Given the description of an element on the screen output the (x, y) to click on. 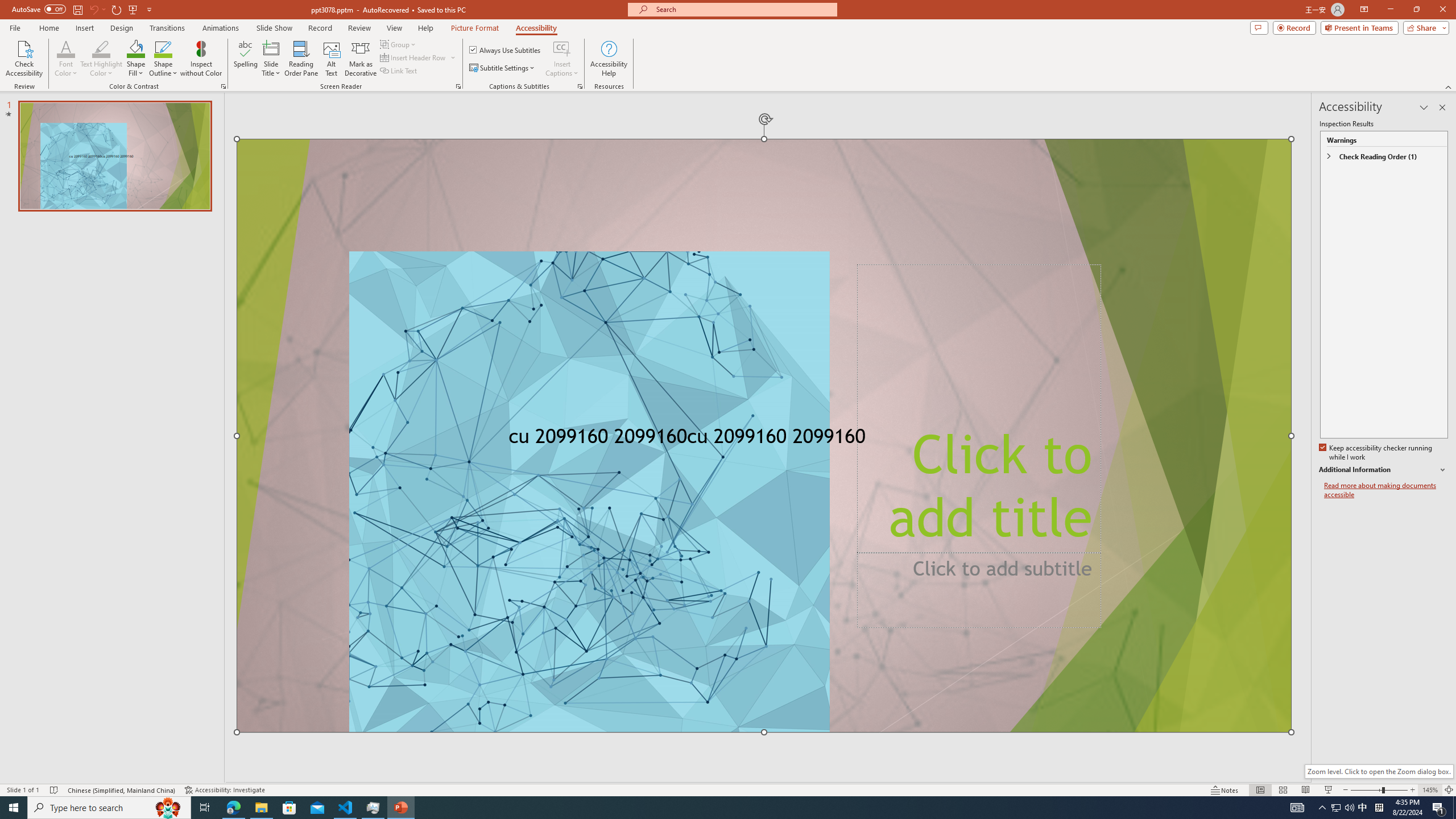
Insert Captions (561, 58)
Zoom level. Click to open the Zoom dialog box. (1378, 771)
Screen Reader (458, 85)
Always Use Subtitles (505, 49)
